Given the description of an element on the screen output the (x, y) to click on. 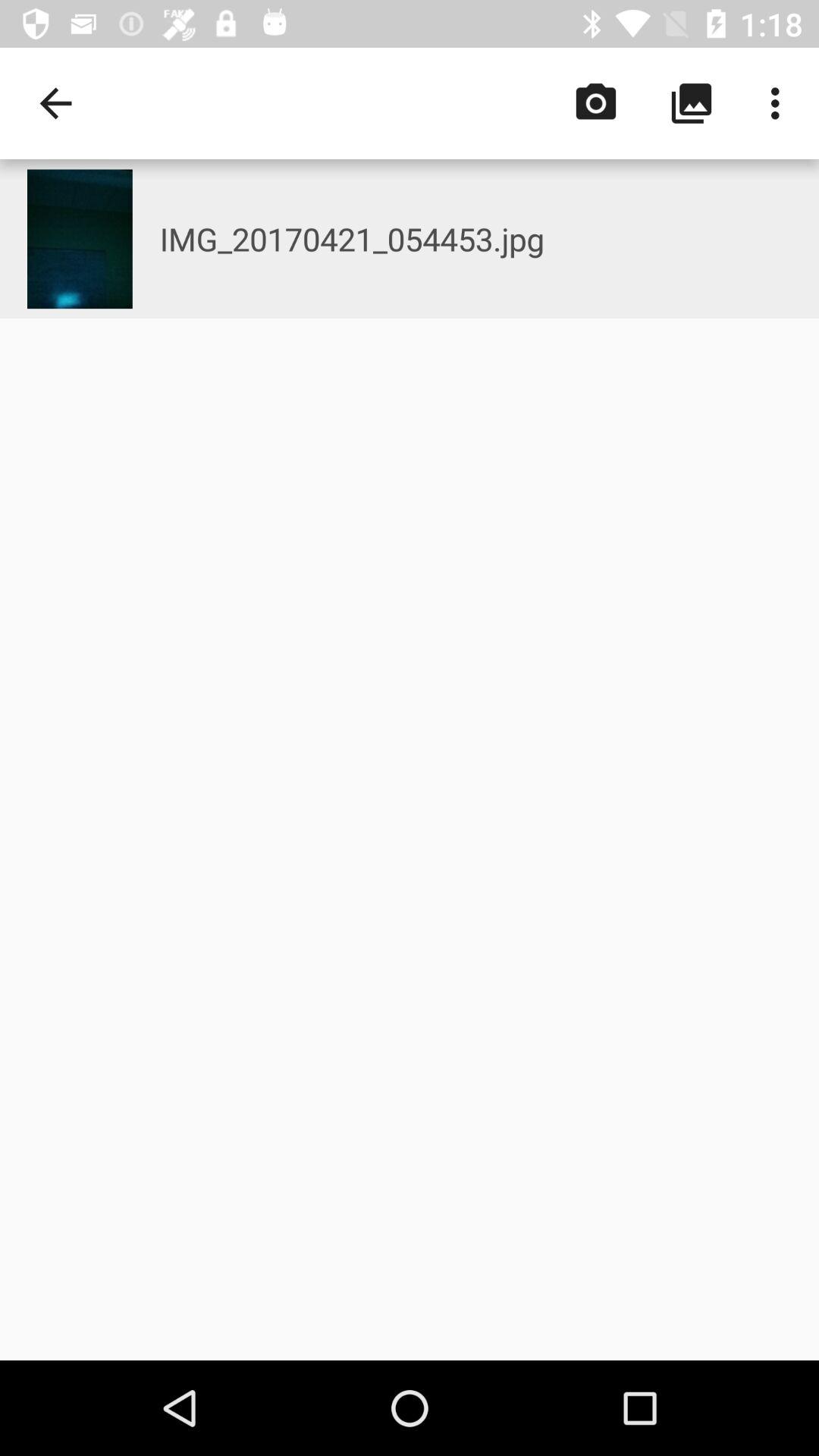
open img_20170421_054453.jpg icon (489, 238)
